Given the description of an element on the screen output the (x, y) to click on. 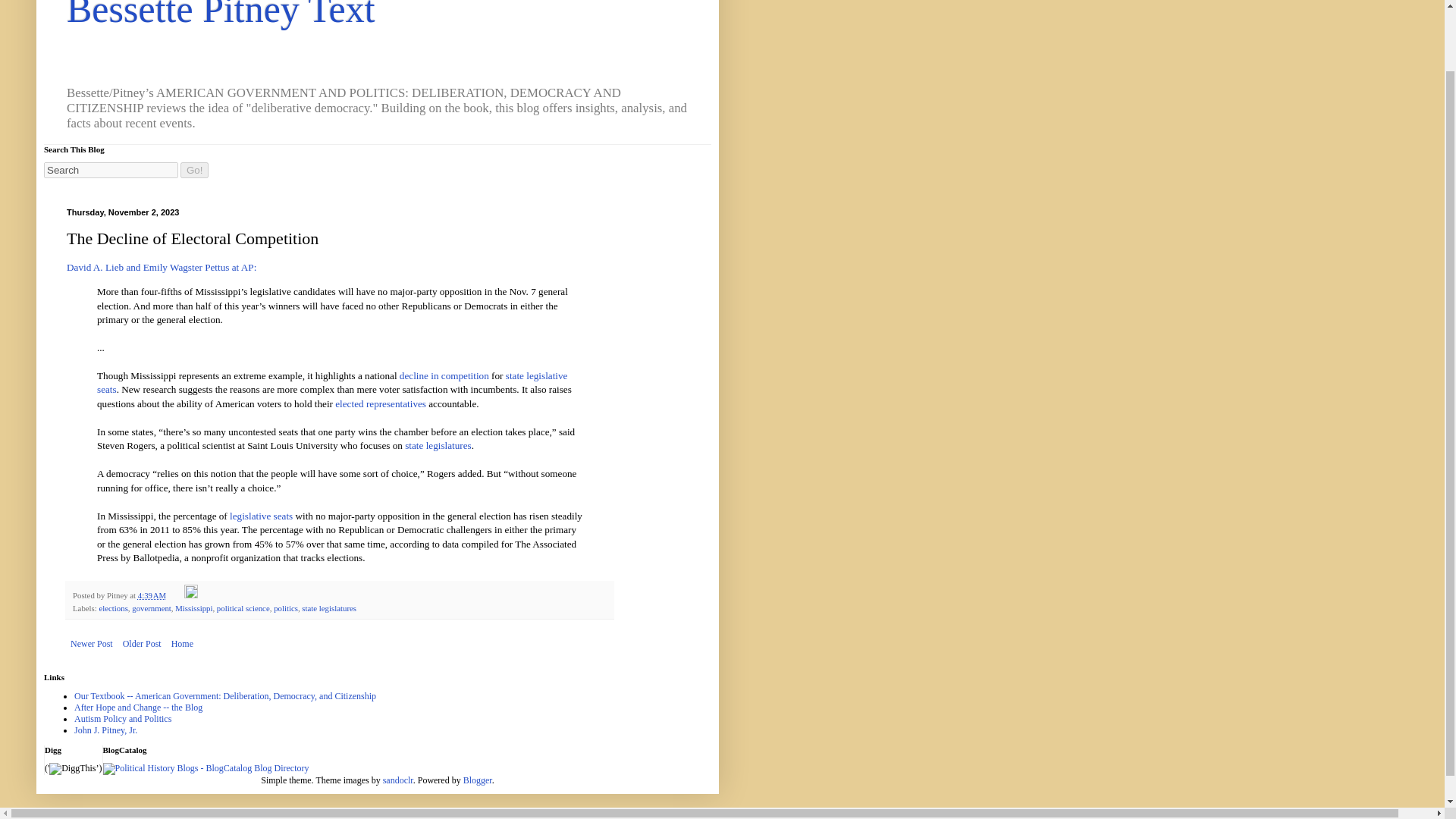
Go! (194, 170)
Edit Post (191, 594)
John J. Pitney, Jr. (105, 729)
Newer Post (91, 643)
Newer Post (91, 643)
Political History Blogs - BlogCatalog Blog Directory (205, 767)
Go! (194, 170)
decline in competition (443, 375)
David A. Lieb and Emily Wagster Pettus at AP: (161, 266)
elections (113, 607)
sandoclr (397, 779)
Older Post (142, 643)
permanent link (151, 594)
state legislatures (328, 607)
